Given the description of an element on the screen output the (x, y) to click on. 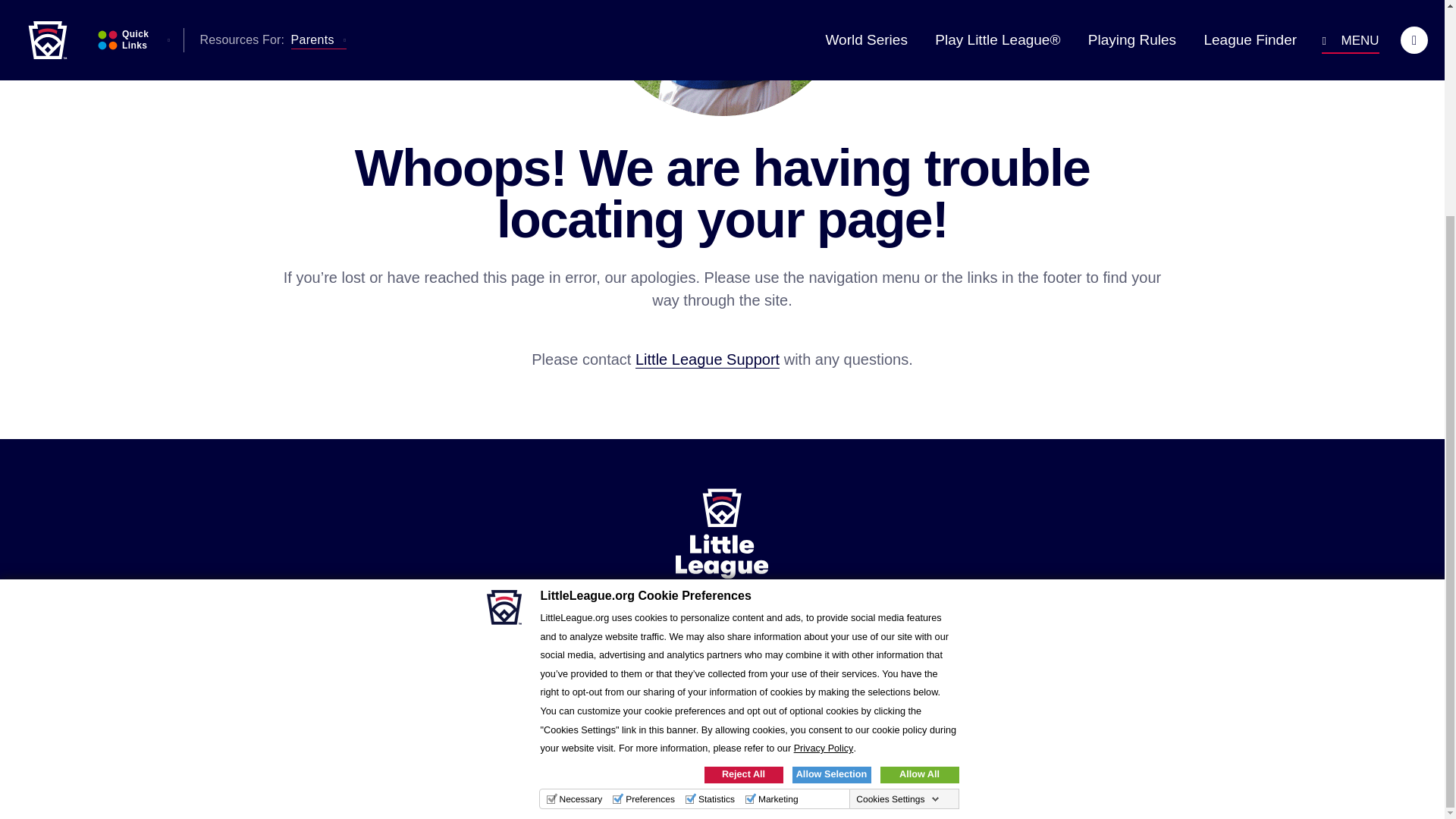
Allow Selection (831, 492)
Allow All (918, 492)
Privacy Policy (823, 465)
Cookies Settings (897, 516)
Reject All (743, 492)
